Given the description of an element on the screen output the (x, y) to click on. 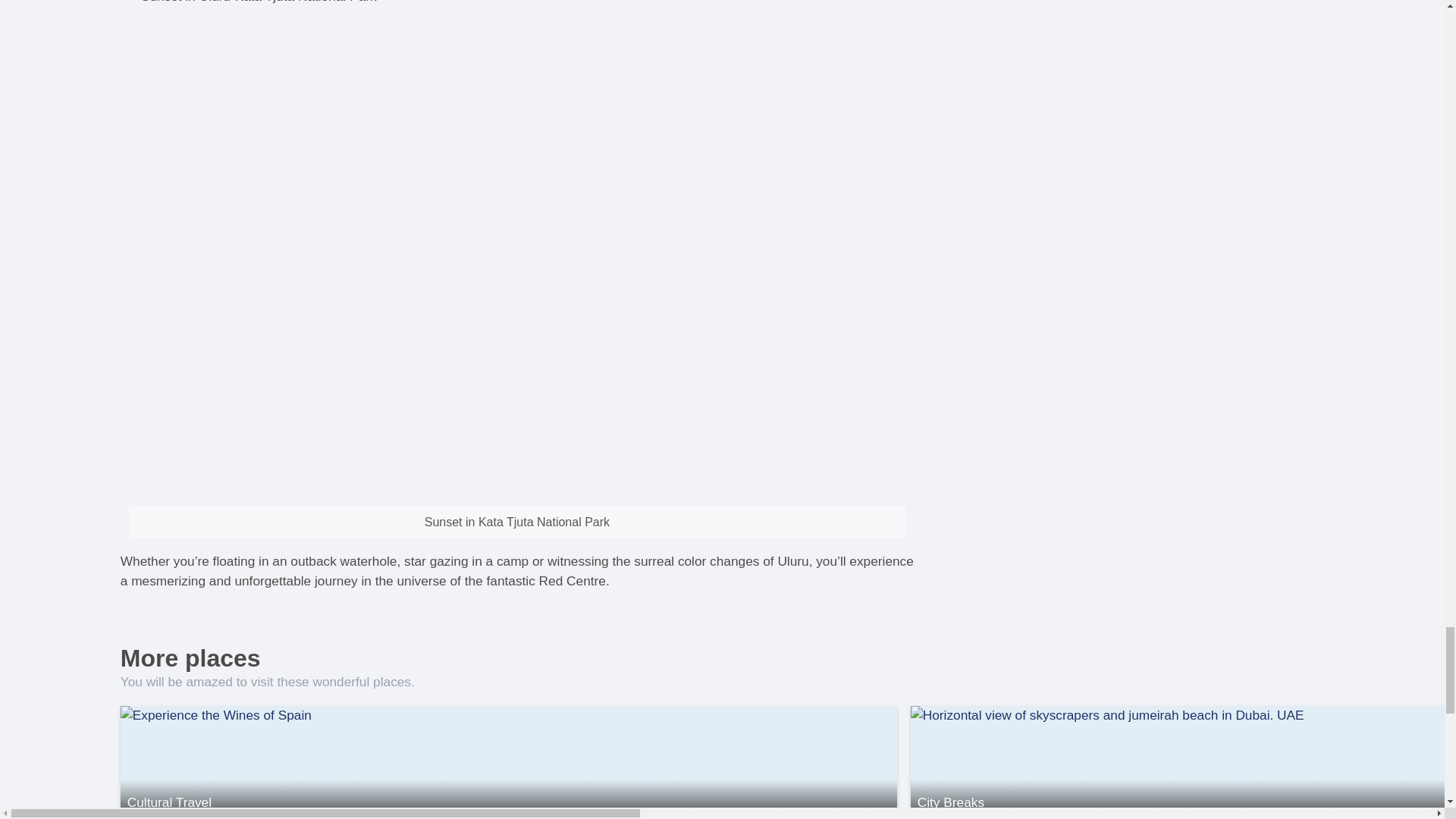
Experience the Wines of Spain (508, 761)
Visit Dubai (1183, 761)
